Given the description of an element on the screen output the (x, y) to click on. 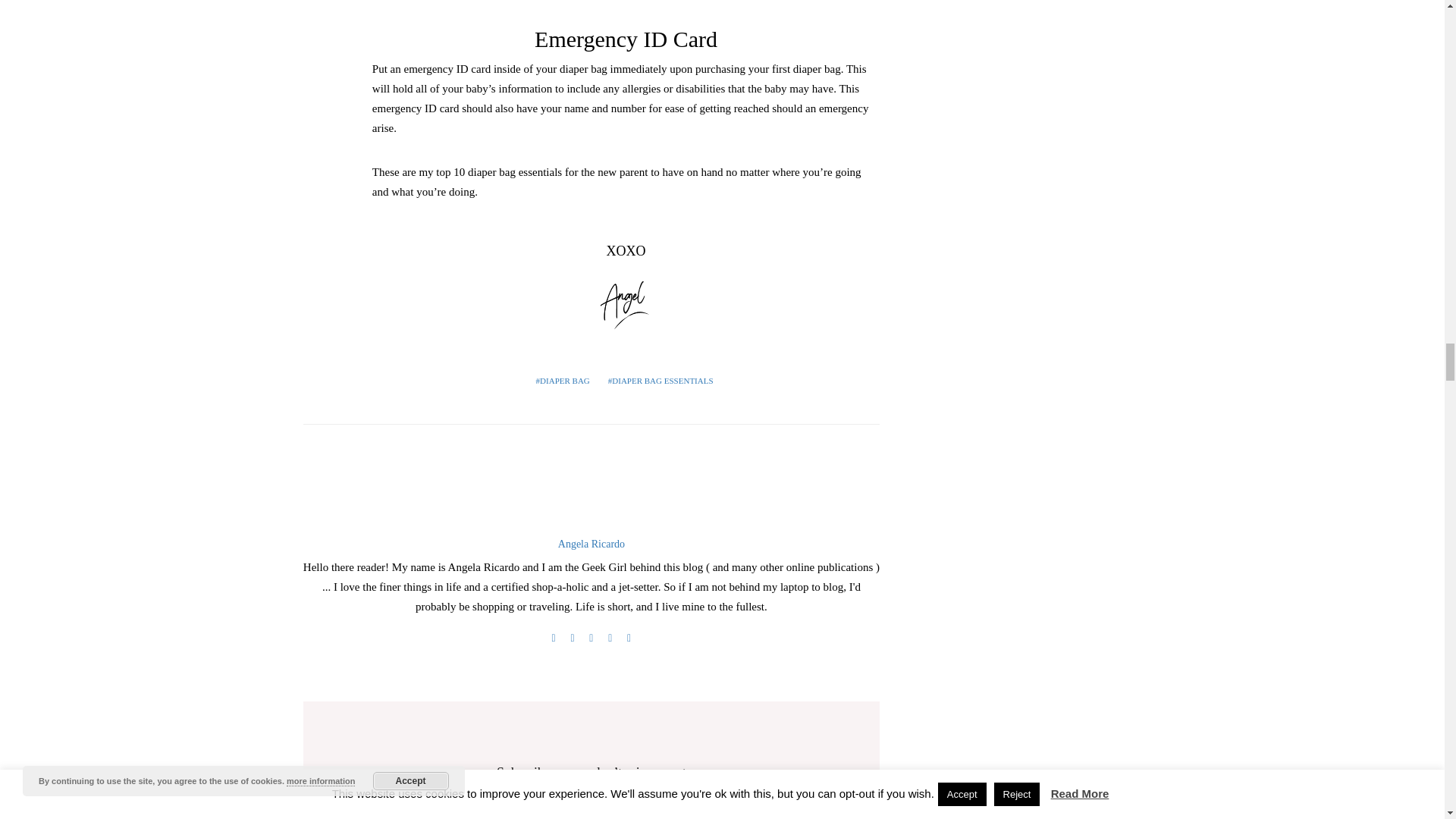
signature (625, 304)
Posts by Angela Ricardo (590, 543)
Subscribe (699, 815)
